Given the description of an element on the screen output the (x, y) to click on. 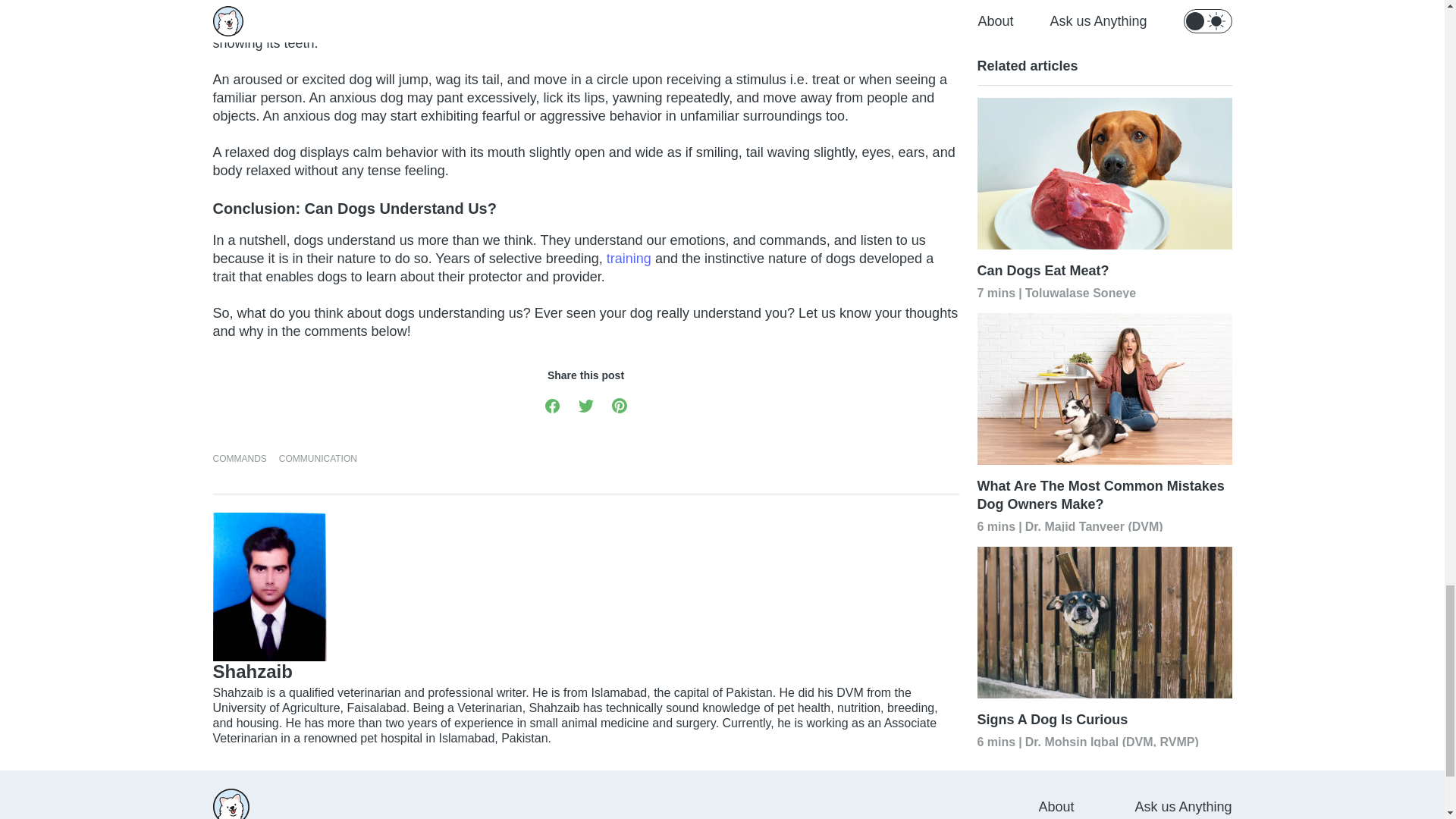
Share this post on Facebook (551, 404)
Pin this post on Pinterest (618, 404)
COMMANDS (239, 458)
COMMUNICATION (317, 458)
barking (481, 7)
aggressive (421, 24)
About (1056, 806)
Share this post on Twitter (585, 404)
training (628, 258)
Ask us Anything (1182, 806)
